Given the description of an element on the screen output the (x, y) to click on. 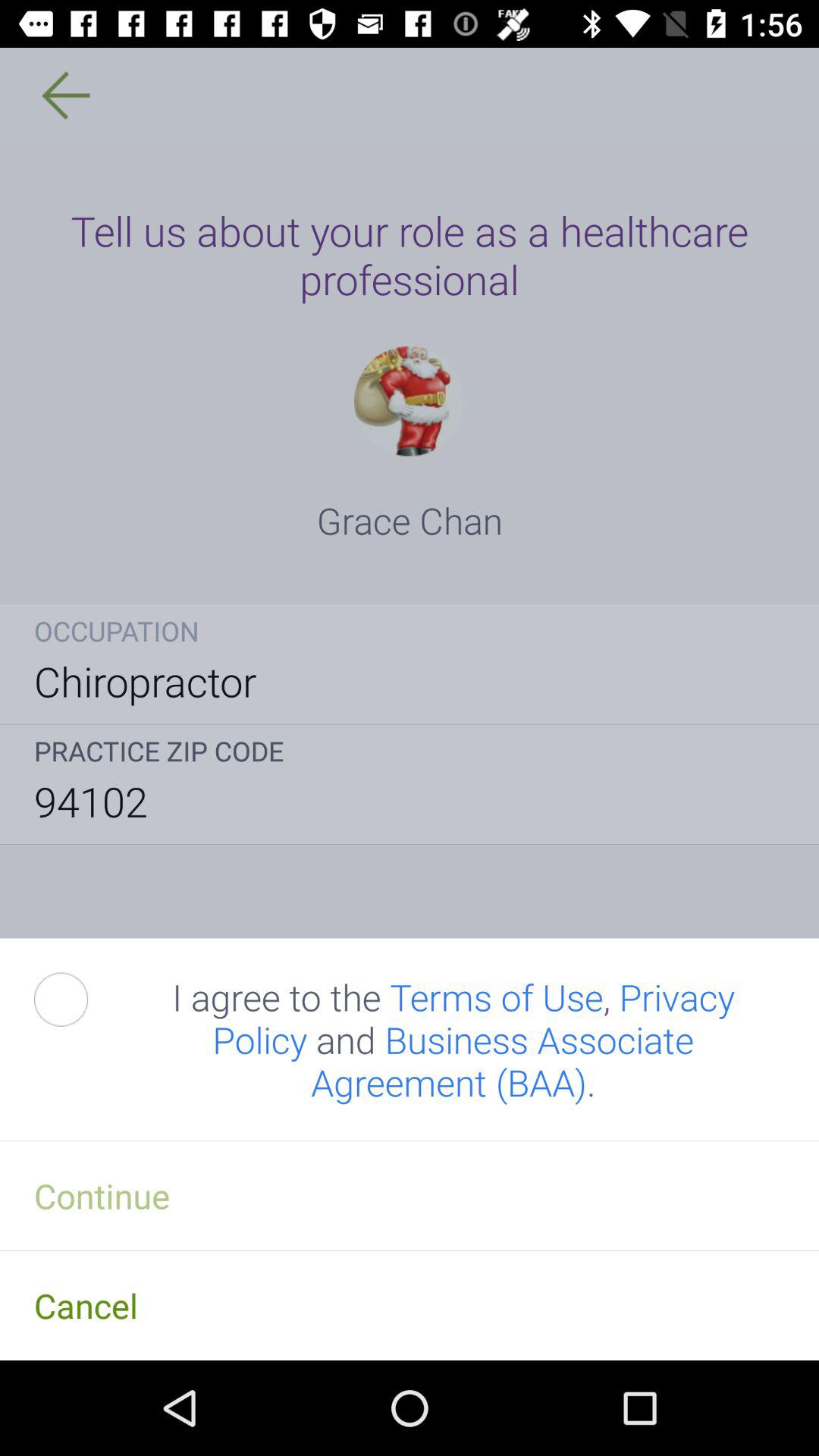
click icon above the cancel icon (409, 1195)
